Given the description of an element on the screen output the (x, y) to click on. 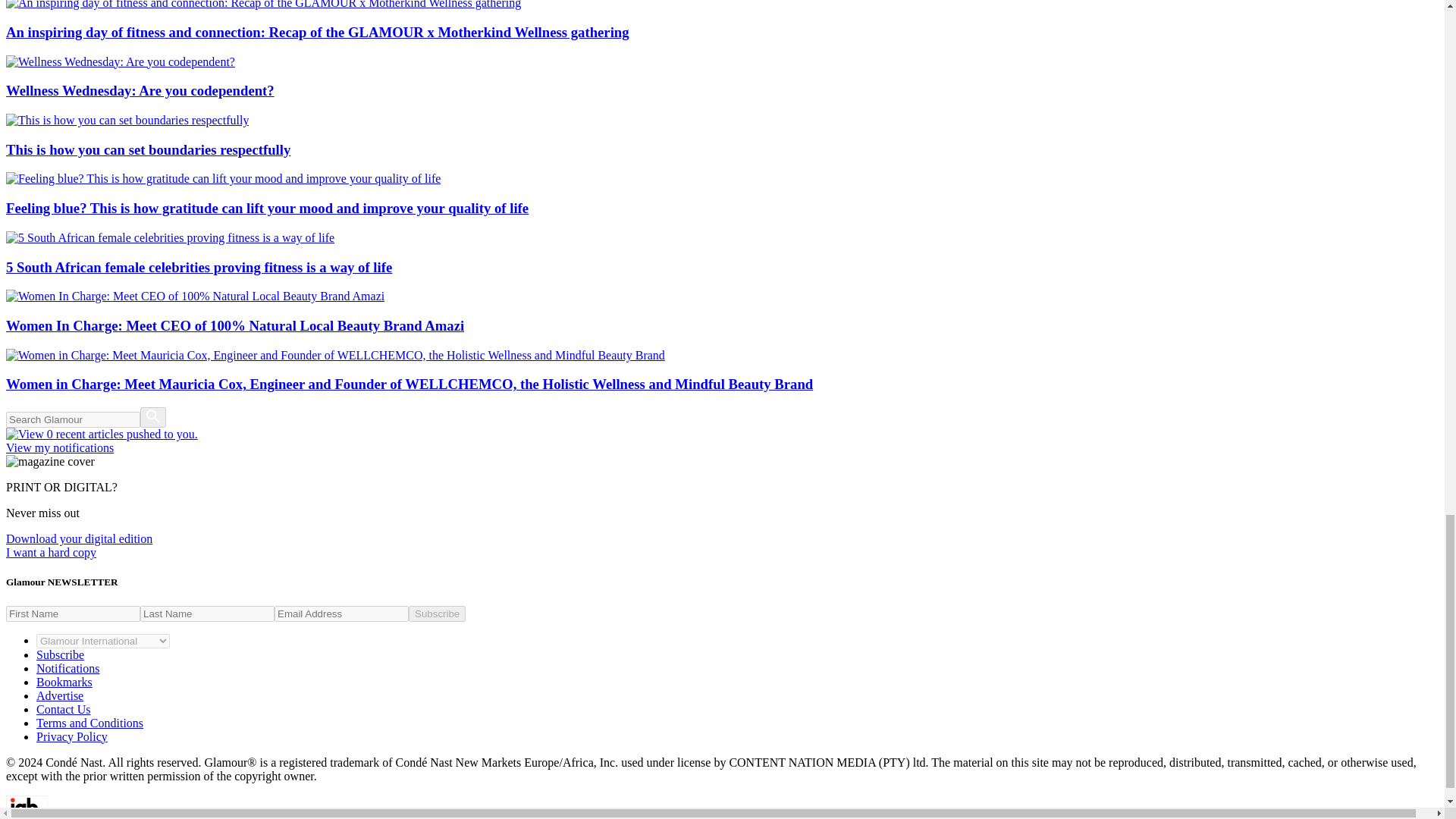
Download your digital edition (78, 538)
Wellness Wednesday: Are you codependent? (721, 77)
View my notifications (721, 441)
Subscribe (60, 654)
This is how you can set boundaries respectfully (721, 135)
I want a hard copy (50, 552)
